Given the description of an element on the screen output the (x, y) to click on. 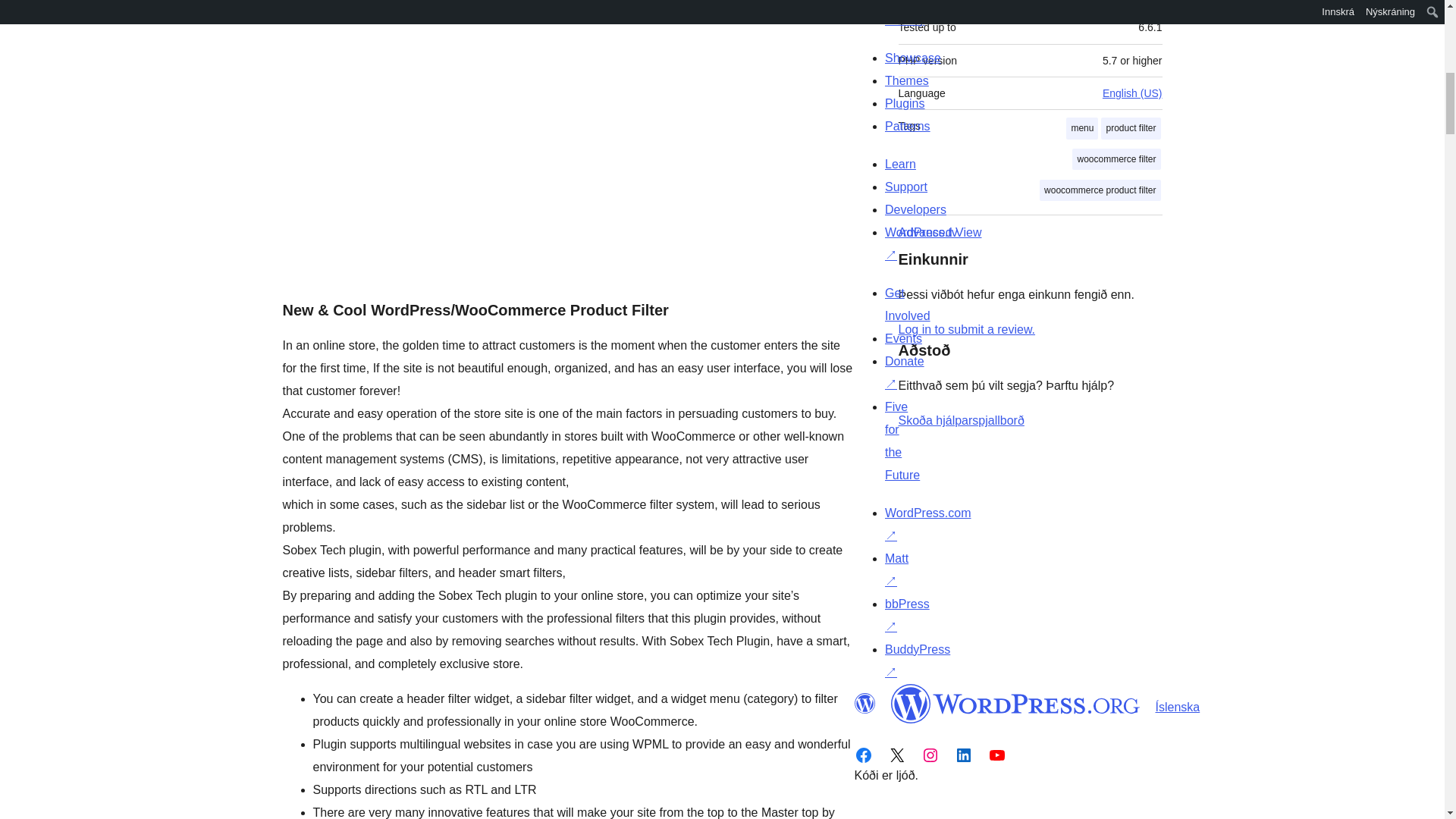
Log in to WordPress.org (966, 328)
WordPress.org (1014, 703)
WordPress.org (864, 703)
